Given the description of an element on the screen output the (x, y) to click on. 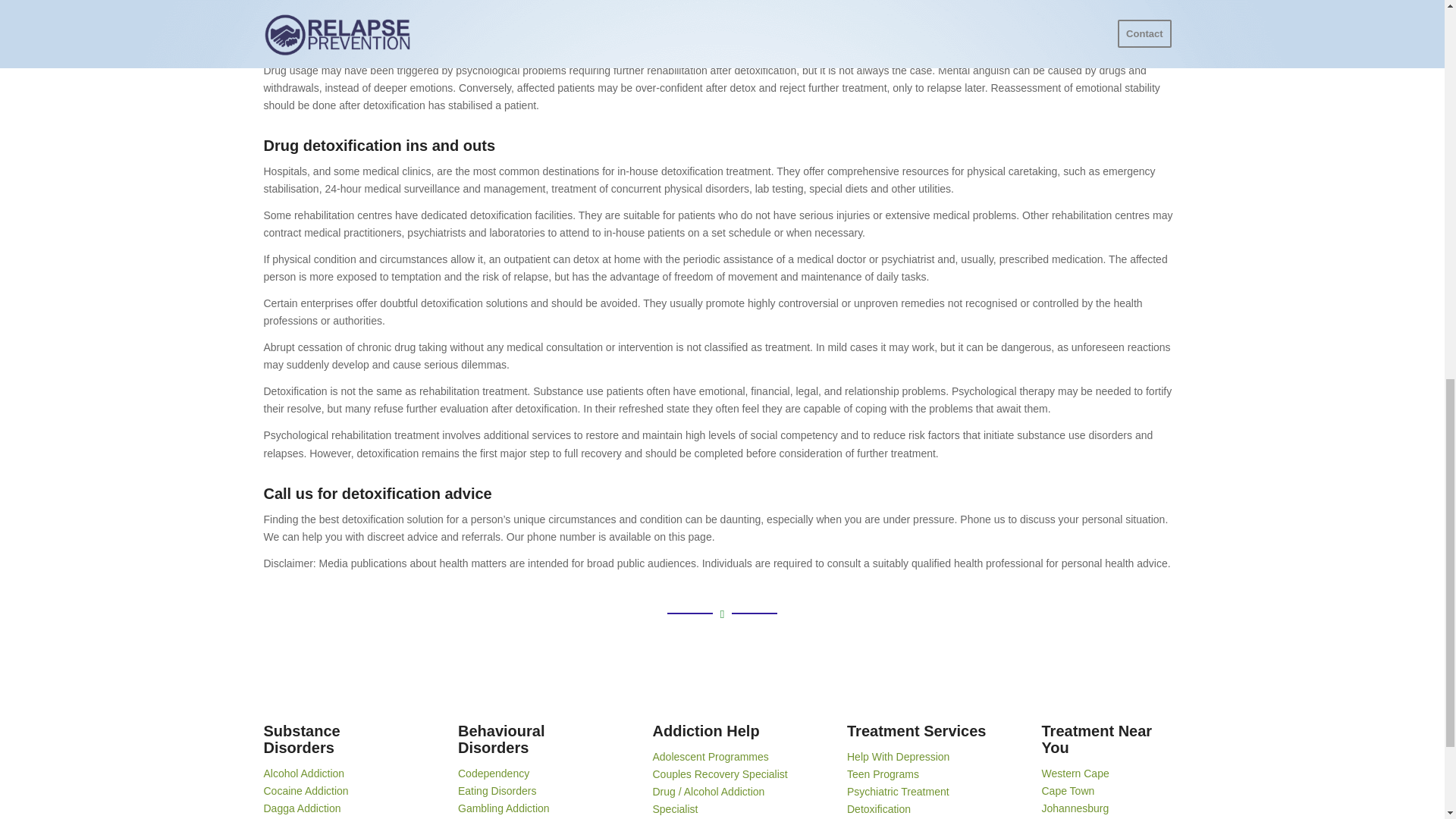
Dagga Addiction (301, 808)
Treatment Services (916, 730)
Adolescent Programmes (710, 756)
Cape Town (1068, 790)
Behavioural Disorders (501, 738)
Psychiatric Treatment (898, 791)
Teen Programs (882, 774)
Substance Disorders (301, 738)
Help With Depression (898, 756)
Treatment Near You (1097, 738)
Codependency (493, 773)
Couples Recovery Specialist (719, 774)
Cocaine Addiction (306, 790)
Eating Disorders (497, 790)
Addiction Help (705, 730)
